Given the description of an element on the screen output the (x, y) to click on. 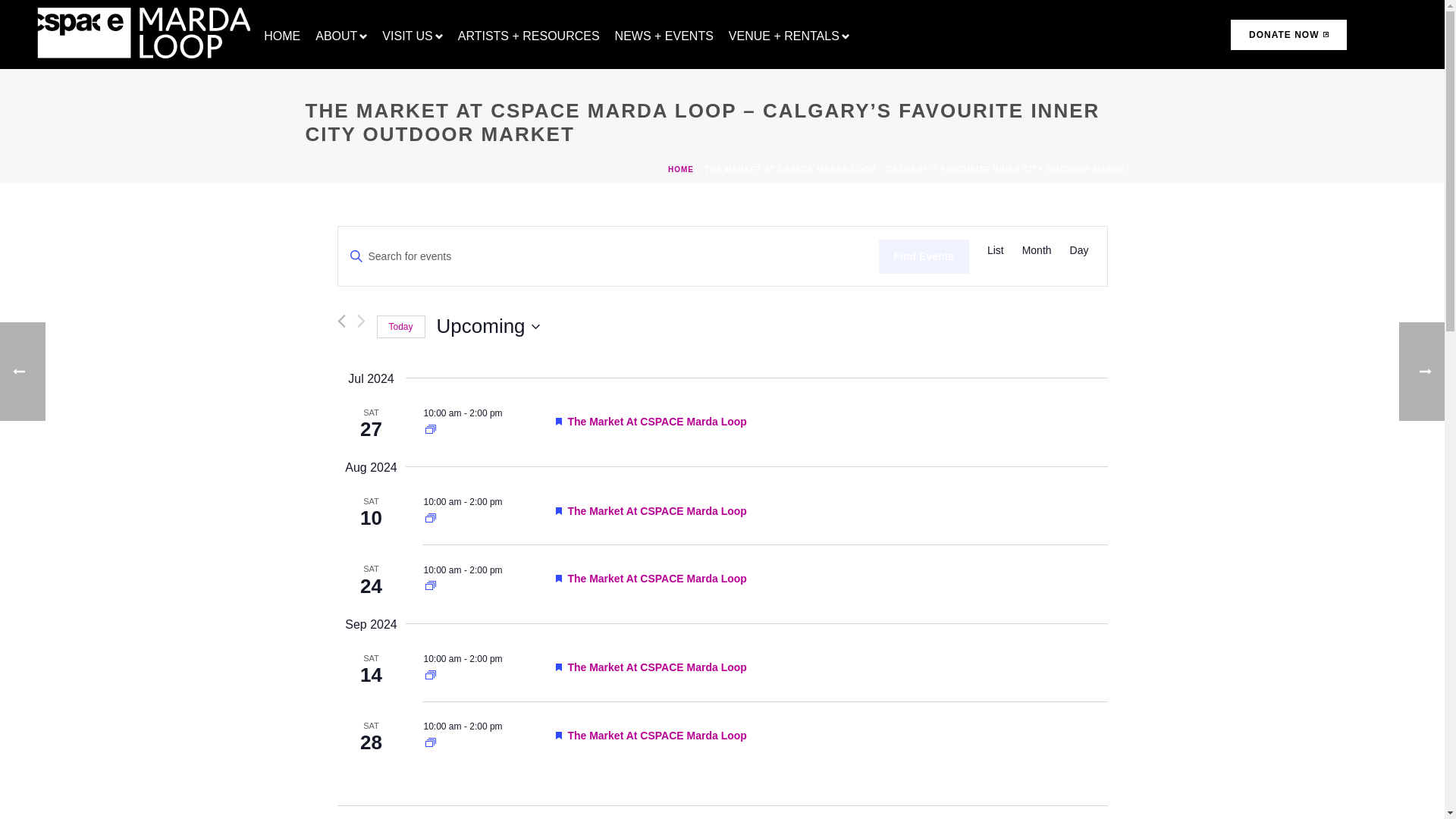
DONATE NOW (1287, 34)
Event Series (430, 429)
Next Events (360, 320)
Previous Events (340, 320)
ABOUT (340, 33)
The Market at cSPACE Marda Loop (656, 421)
Featured (557, 666)
Featured (557, 578)
Click to toggle datepicker (488, 326)
Featured (559, 421)
Event Series (430, 674)
2024-07-27 10:00:00 :: 2024-07-27 14:00:00 (462, 412)
HOME (281, 33)
Event Series (430, 741)
HOME (281, 33)
